Given the description of an element on the screen output the (x, y) to click on. 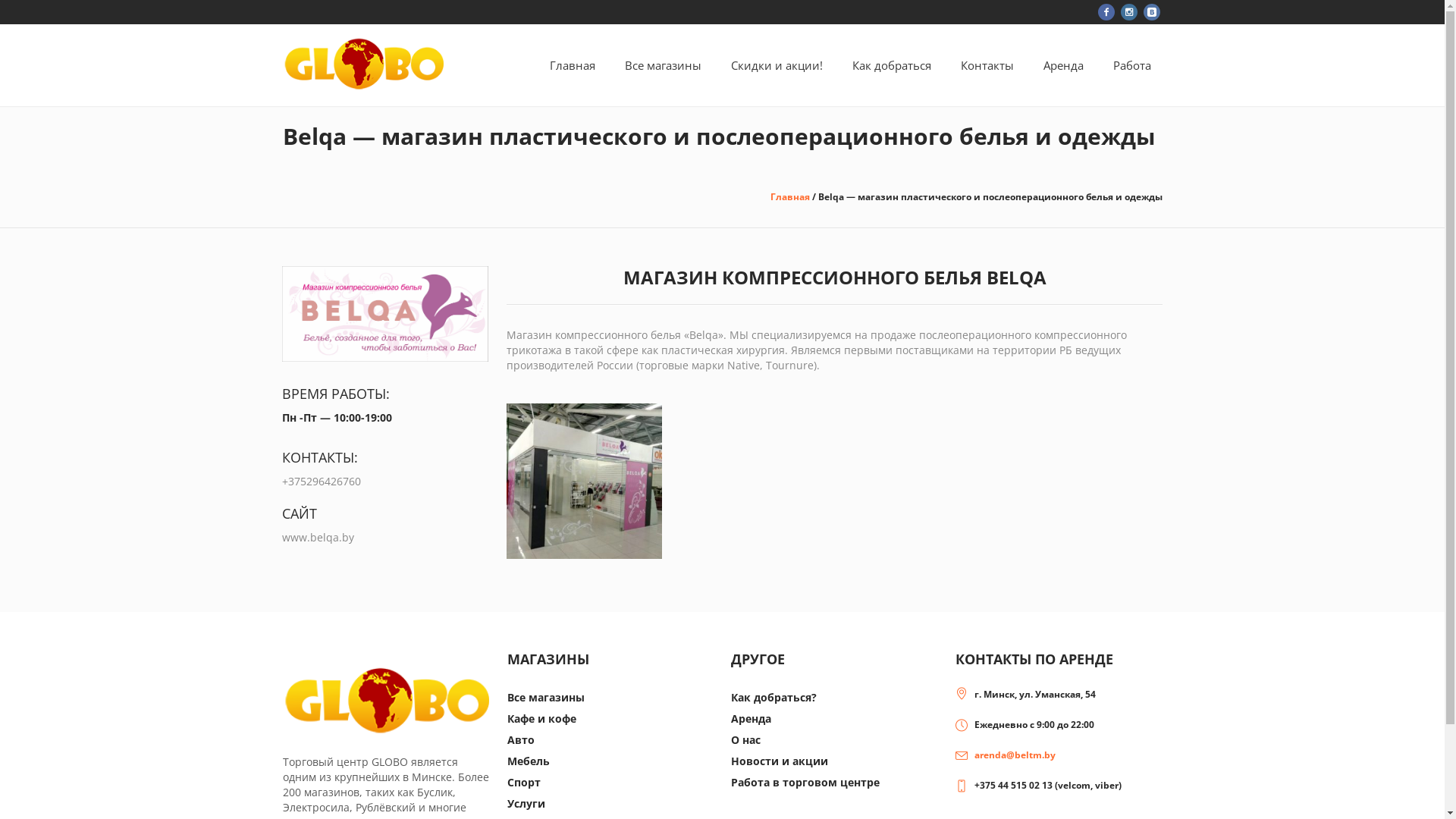
Facebook Element type: hover (1106, 11)
Instagram Element type: hover (1128, 11)
arenda@beltm.by Element type: text (1014, 754)
VK Element type: hover (1151, 11)
